Given the description of an element on the screen output the (x, y) to click on. 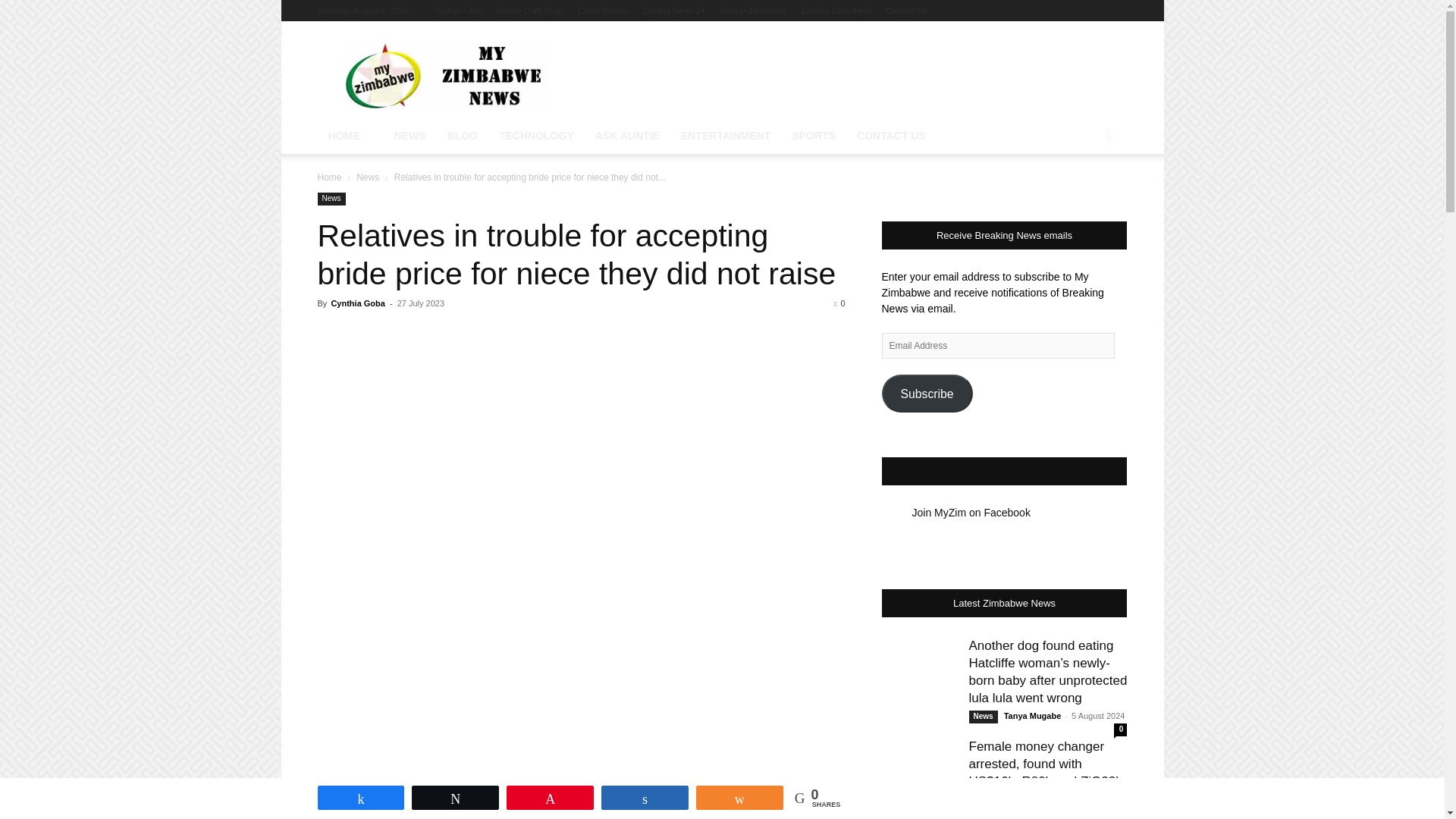
HOME (349, 135)
SPORTS (814, 135)
Jobs in Zimbabwe (753, 10)
Contact Us (905, 10)
NEWS (410, 135)
BLOG (461, 135)
TECHNOLOGY (536, 135)
Search (1085, 196)
Home (328, 176)
CONTACT US (890, 135)
African Craft Shop (529, 10)
View all posts in News (367, 176)
Zambia Classifieds (835, 10)
Zambia News 24 (673, 10)
ENTERTAINMENT (725, 135)
